Given the description of an element on the screen output the (x, y) to click on. 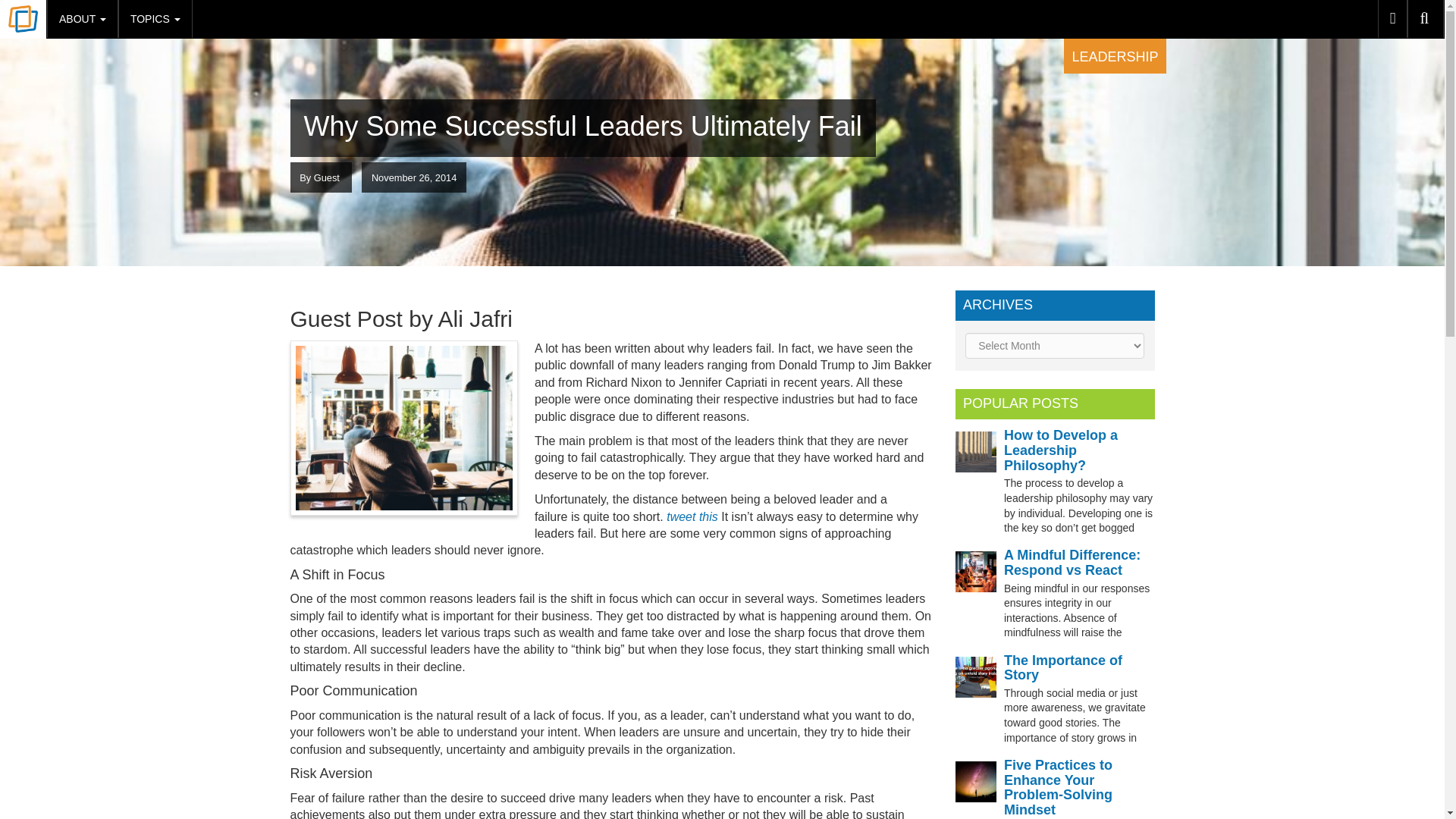
tweet this (691, 516)
About (81, 18)
ABOUT (81, 18)
How to Develop a Leadership Philosophy? (1061, 450)
Five Practices to Enhance Your Problem-Solving Mindset (1058, 787)
Thin Difference (23, 19)
Search (1425, 18)
tweet this (691, 516)
The Importance of Story (1063, 667)
A Mindful Difference: Respond vs React (1072, 562)
